Given the description of an element on the screen output the (x, y) to click on. 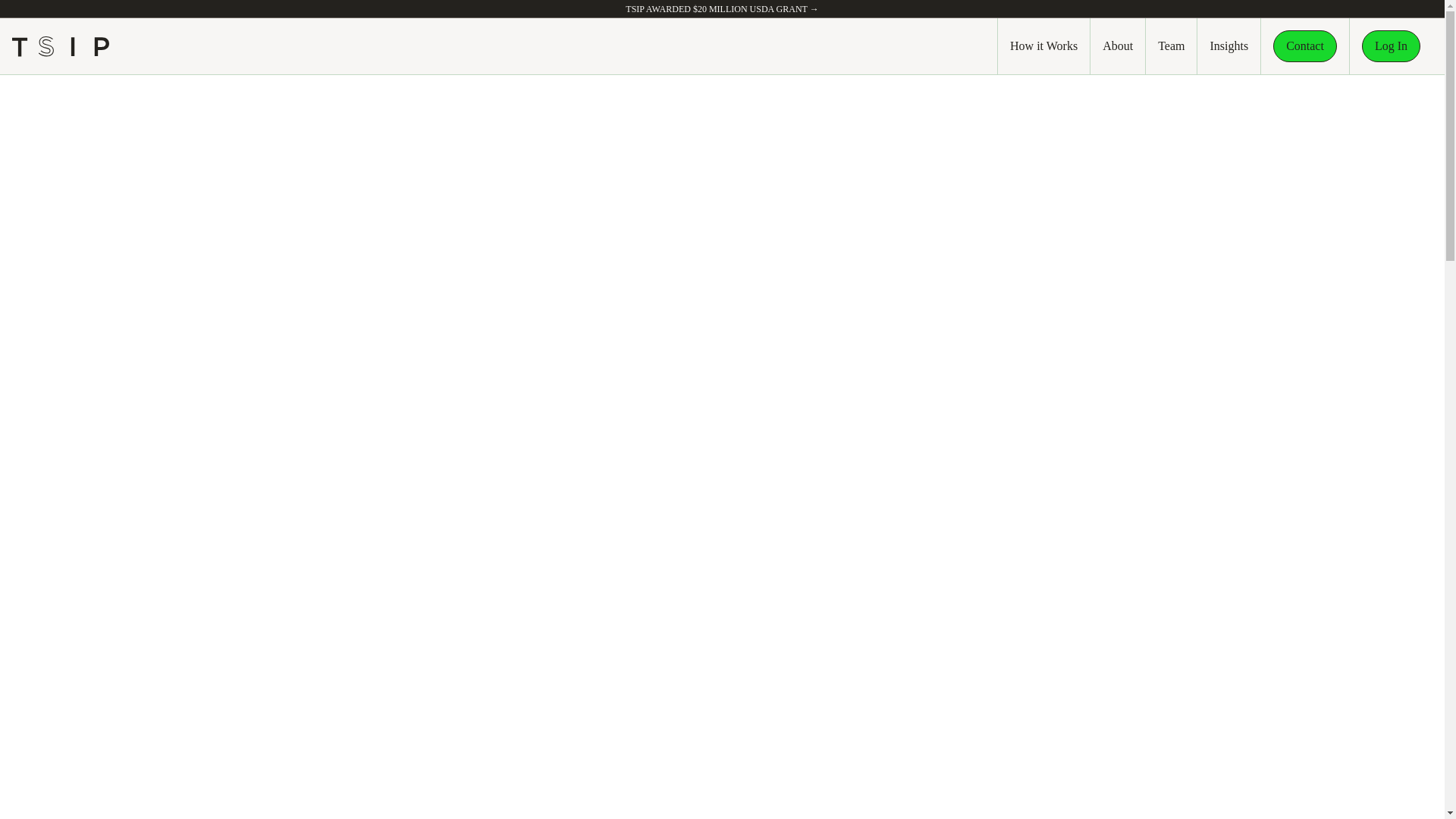
Log In (1391, 46)
About (1117, 45)
Team (1170, 45)
Contact (1304, 46)
How it Works (1043, 45)
Insights (1228, 45)
